Given the description of an element on the screen output the (x, y) to click on. 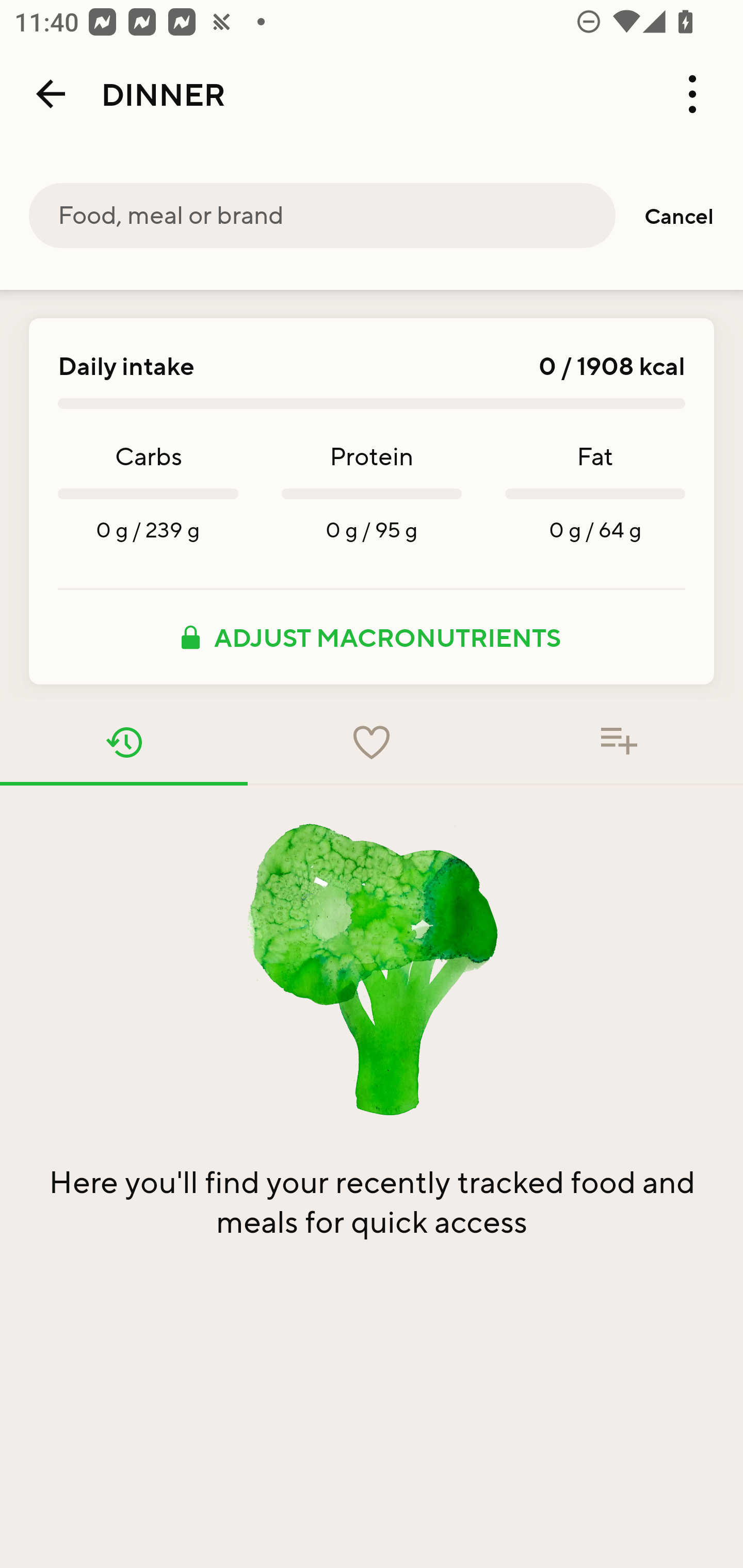
Back (50, 93)
Cancel (679, 215)
ADJUST MACRONUTRIENTS (371, 637)
Favorites (371, 742)
Food added (619, 742)
